Given the description of an element on the screen output the (x, y) to click on. 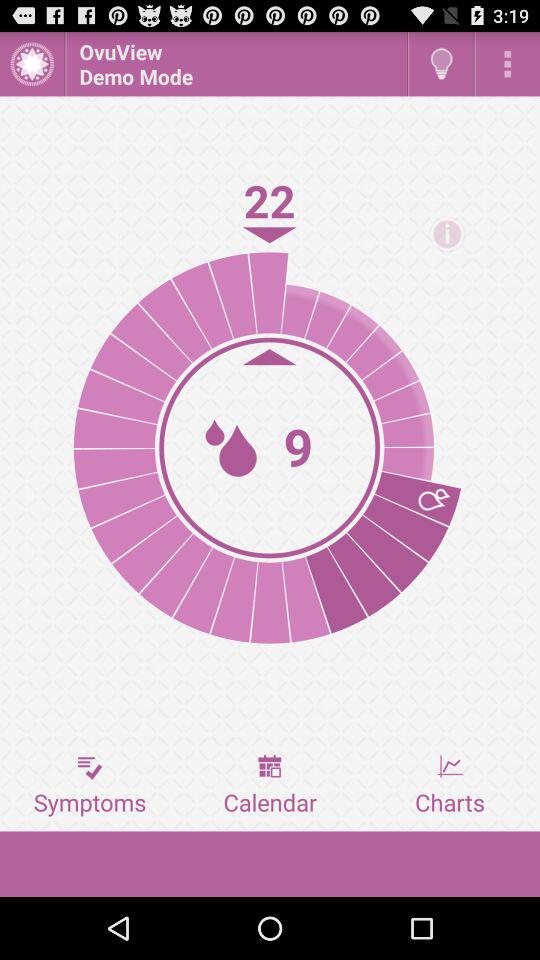
flip to the charts (450, 785)
